Given the description of an element on the screen output the (x, y) to click on. 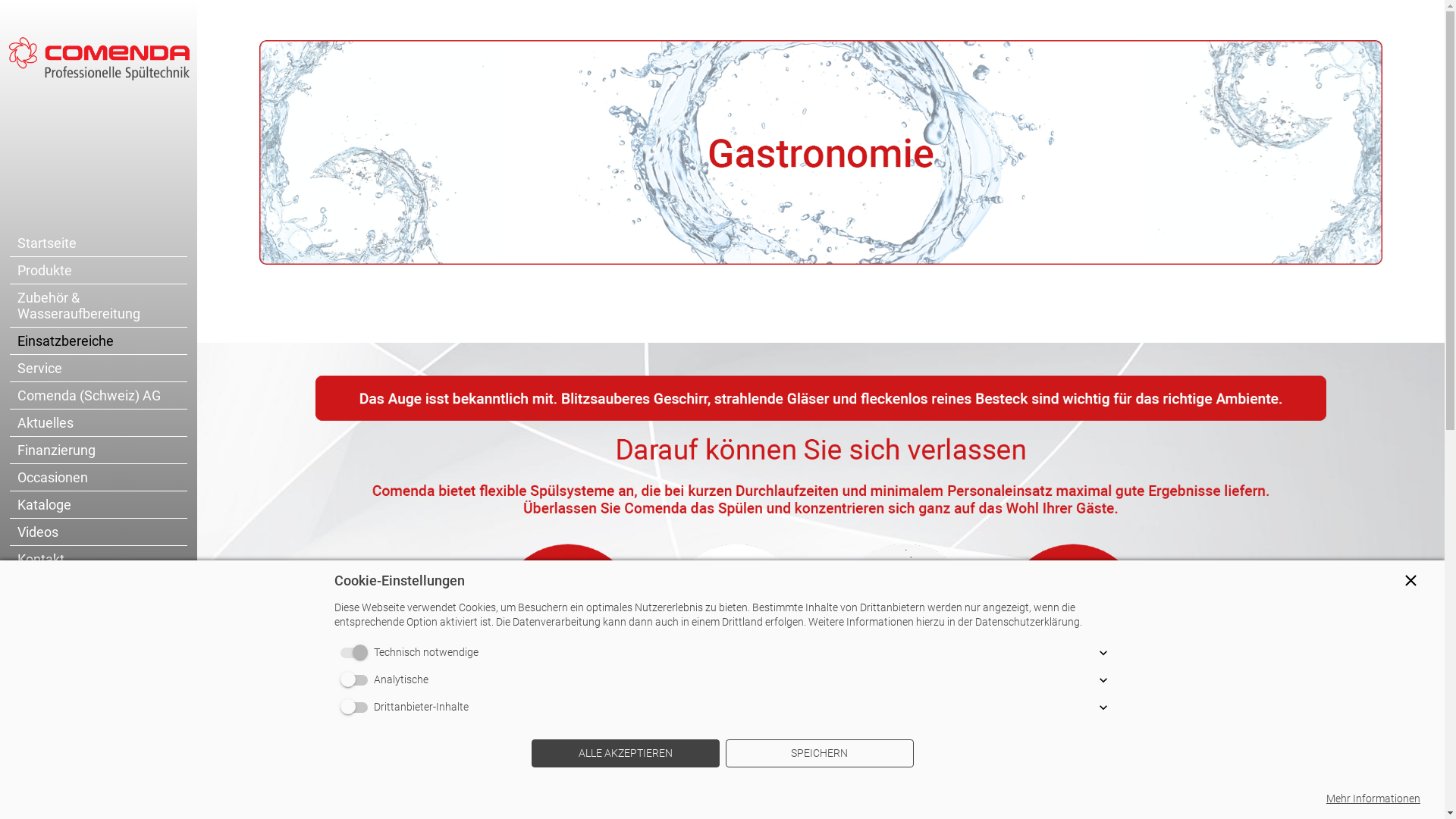
Aktuelles Element type: text (98, 422)
Comenda (Schweiz) AG Element type: text (98, 395)
ALLE AKZEPTIEREN Element type: text (624, 753)
Mehr Informationen Element type: text (1373, 798)
SPEICHERN Element type: text (818, 753)
Kontakt Element type: text (98, 559)
Service Element type: text (98, 367)
Videos Element type: text (98, 531)
Occasionen Element type: text (98, 477)
Startseite Element type: text (98, 242)
Kataloge Element type: text (98, 504)
Einsatzbereiche Element type: text (98, 340)
Finanzierung Element type: text (98, 449)
Produkte Element type: text (98, 270)
Webshop Element type: text (98, 586)
